Given the description of an element on the screen output the (x, y) to click on. 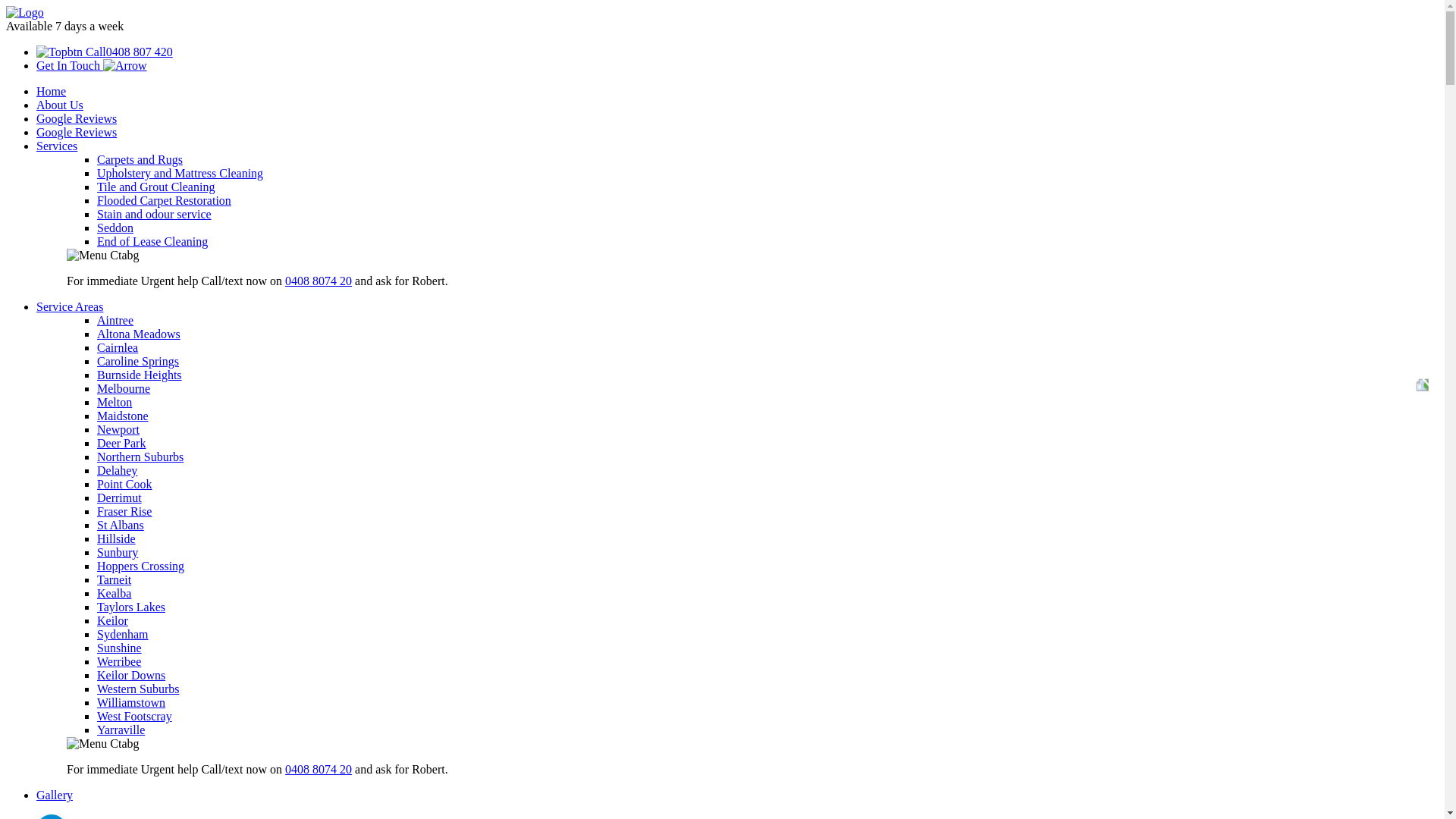
0408 8074 20 Element type: text (318, 768)
Sunshine Element type: text (119, 647)
Burnside Heights Element type: text (139, 374)
Services Element type: text (56, 145)
Carpets and Rugs Element type: text (139, 159)
Melton Element type: text (114, 401)
Upholstery and Mattress Cleaning Element type: text (180, 172)
Tile and Grout Cleaning Element type: text (155, 186)
Western Suburbs Element type: text (137, 688)
Sydenham Element type: text (122, 633)
St Albans Element type: text (120, 524)
Taylors Lakes Element type: text (131, 606)
Deer Park Element type: text (121, 442)
Yarraville Element type: text (120, 729)
Service Areas Element type: text (69, 306)
About Us Element type: text (59, 104)
Delahey Element type: text (117, 470)
Maidstone Element type: text (122, 415)
End of Lease Cleaning Element type: text (152, 241)
Hillside Element type: text (116, 538)
Northern Suburbs Element type: text (140, 456)
Keilor Element type: text (112, 620)
Google Reviews Element type: text (76, 118)
Stain and odour service Element type: text (154, 213)
Tarneit Element type: text (114, 579)
Kealba Element type: text (114, 592)
Melbourne Element type: text (123, 388)
Werribee Element type: text (119, 661)
Altona Meadows Element type: text (138, 333)
Newport Element type: text (118, 429)
Seddon Element type: text (115, 227)
Fraser Rise Element type: text (124, 511)
Get In Touch Element type: text (91, 65)
0408 8074 20 Element type: text (318, 280)
Caroline Springs Element type: text (137, 360)
West Footscray Element type: text (134, 715)
Flooded Carpet Restoration Element type: text (164, 200)
Point Cook Element type: text (124, 483)
Derrimut Element type: text (119, 497)
Cairnlea Element type: text (117, 347)
Williamstown Element type: text (131, 702)
Aintree Element type: text (115, 319)
Sunbury Element type: text (117, 552)
Google Reviews Element type: text (76, 131)
0408 807 420 Element type: text (104, 51)
Gallery Element type: text (54, 794)
Hoppers Crossing Element type: text (140, 565)
Keilor Downs Element type: text (131, 674)
Home Element type: text (50, 90)
